Given the description of an element on the screen output the (x, y) to click on. 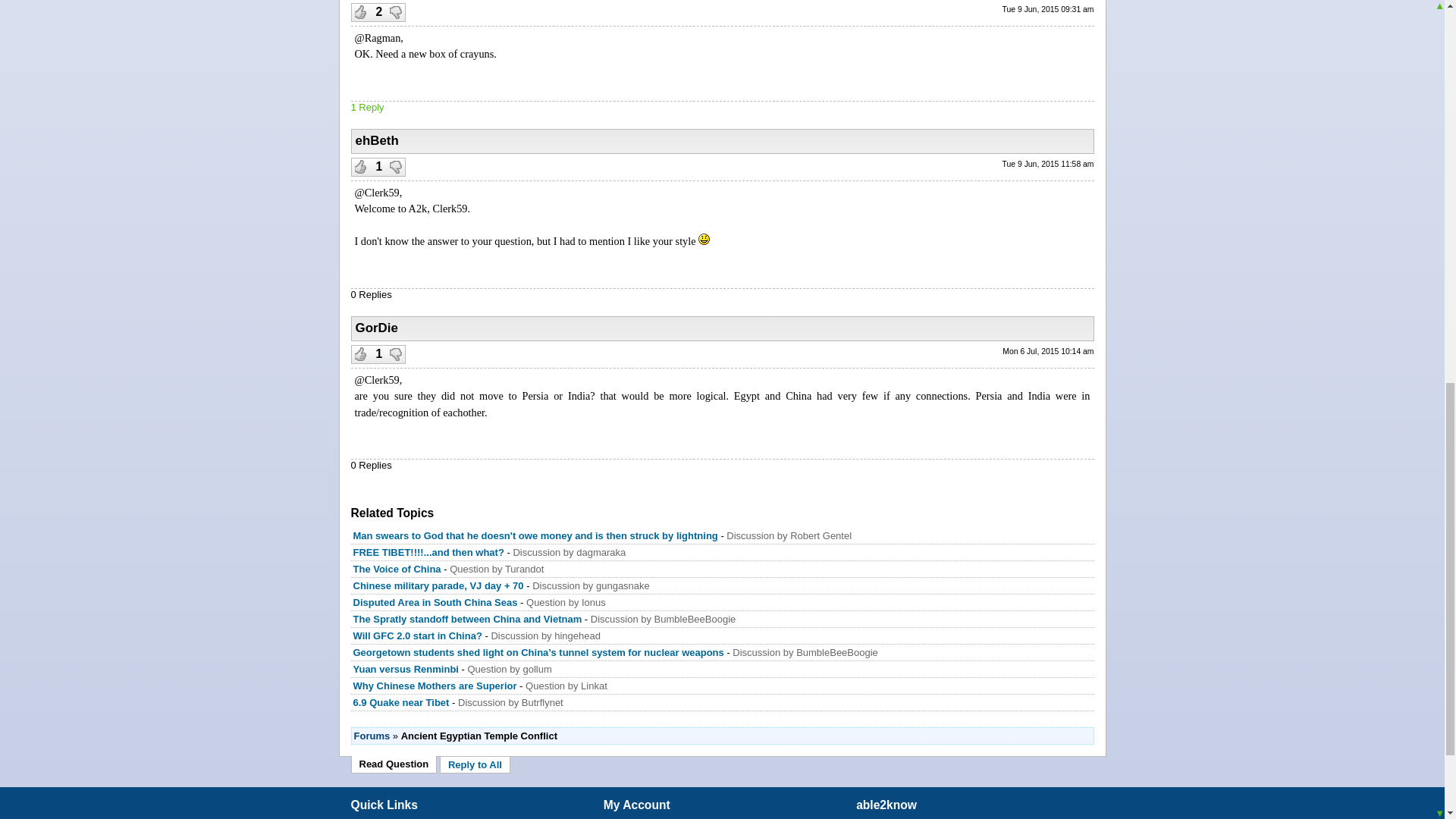
The Voice of China (397, 568)
Will GFC 2.0 start in China? (417, 635)
Reply to All (475, 764)
6.9 Quake near Tibet (401, 702)
Yuan versus Renminbi (405, 668)
The Spratly standoff between China and Vietnam (467, 618)
Why Chinese Mothers are Superior (434, 685)
Disputed Area in South China Seas (435, 602)
FREE TIBET!!!!...and then what? (428, 552)
